Given the description of an element on the screen output the (x, y) to click on. 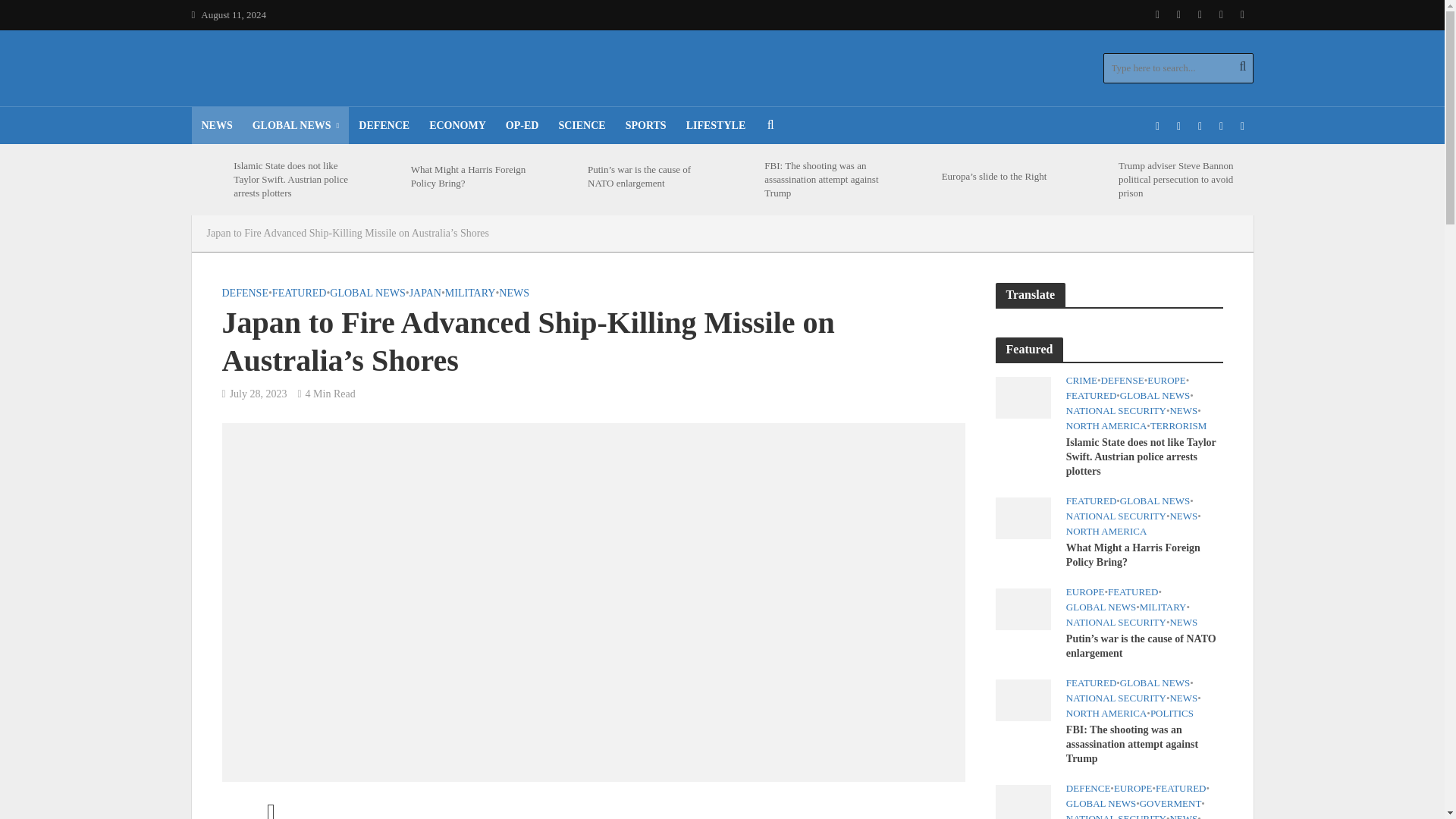
NEWS (215, 125)
What Might a Harris Foreign Policy Bring? (1021, 517)
FBI: The shooting was an assassination attempt against Trump (739, 179)
FBI: The shooting was an assassination attempt against Trump (1021, 698)
What Might a Harris Foreign Policy Bring? (385, 176)
GLOBAL NEWS (296, 125)
